Given the description of an element on the screen output the (x, y) to click on. 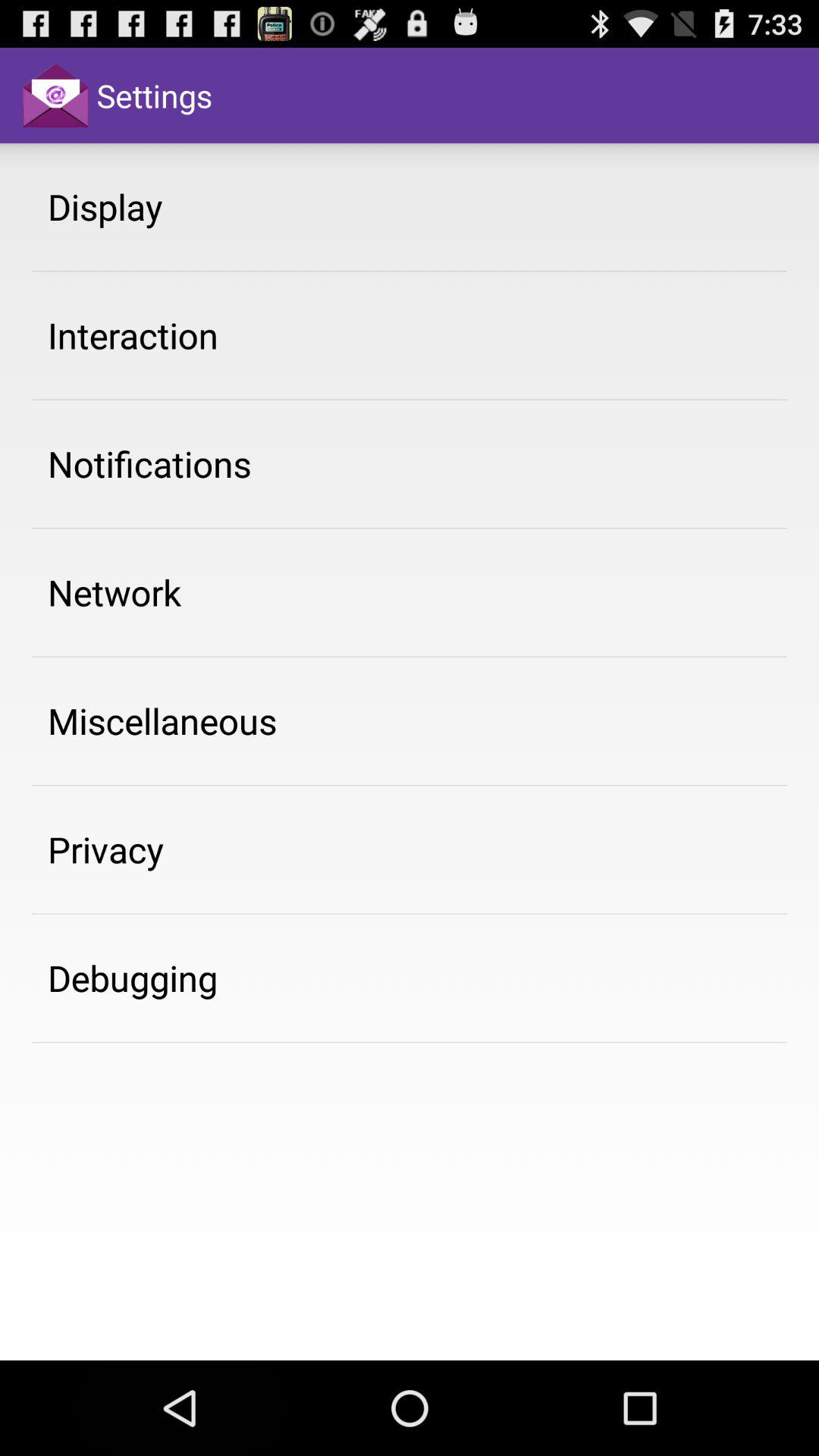
turn on item below the display icon (132, 335)
